Given the description of an element on the screen output the (x, y) to click on. 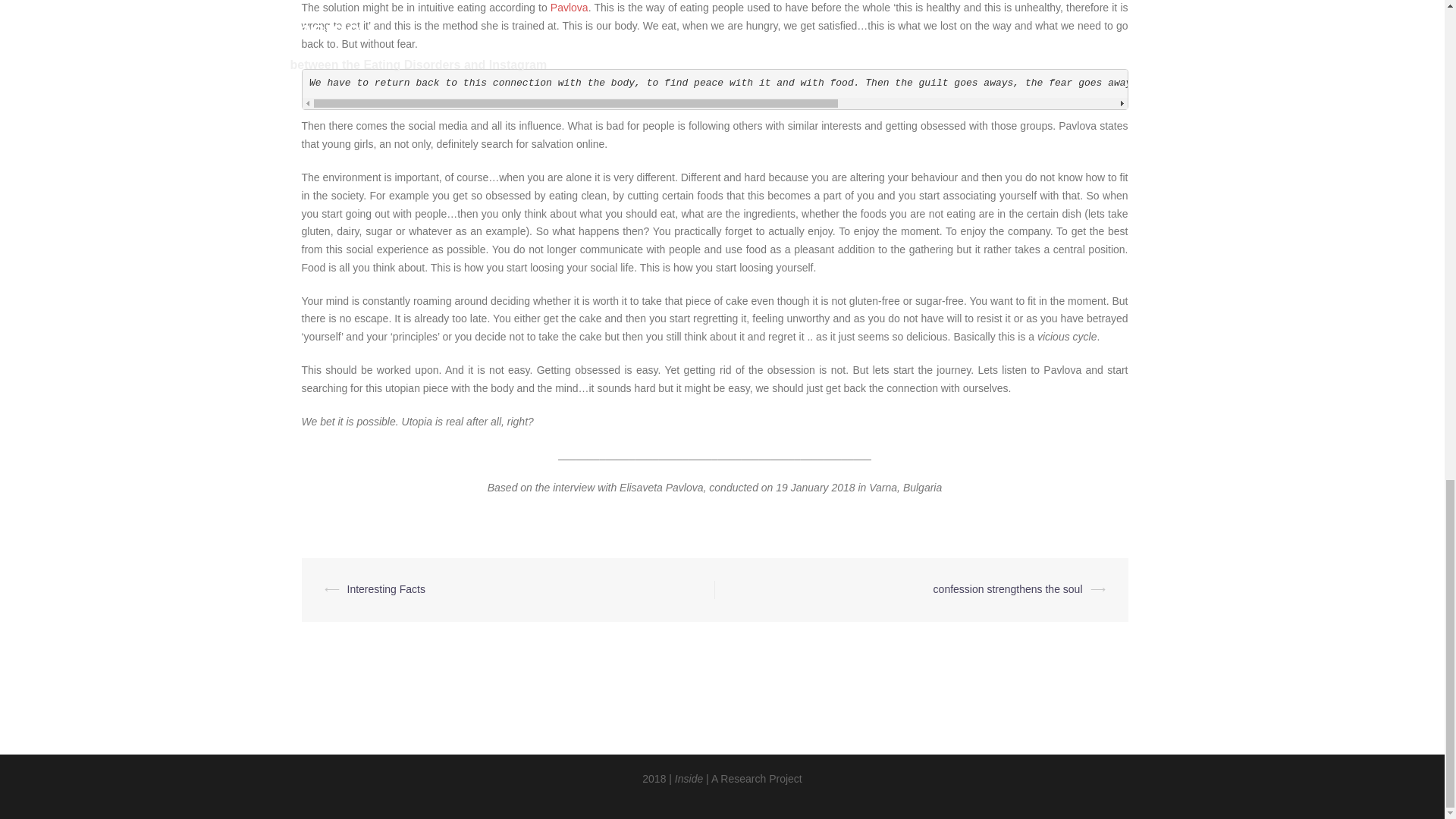
confession strengthens the soul (1008, 589)
Pavlova (569, 7)
Interesting Facts (386, 589)
2018 (653, 778)
A Research Project (756, 778)
